Given the description of an element on the screen output the (x, y) to click on. 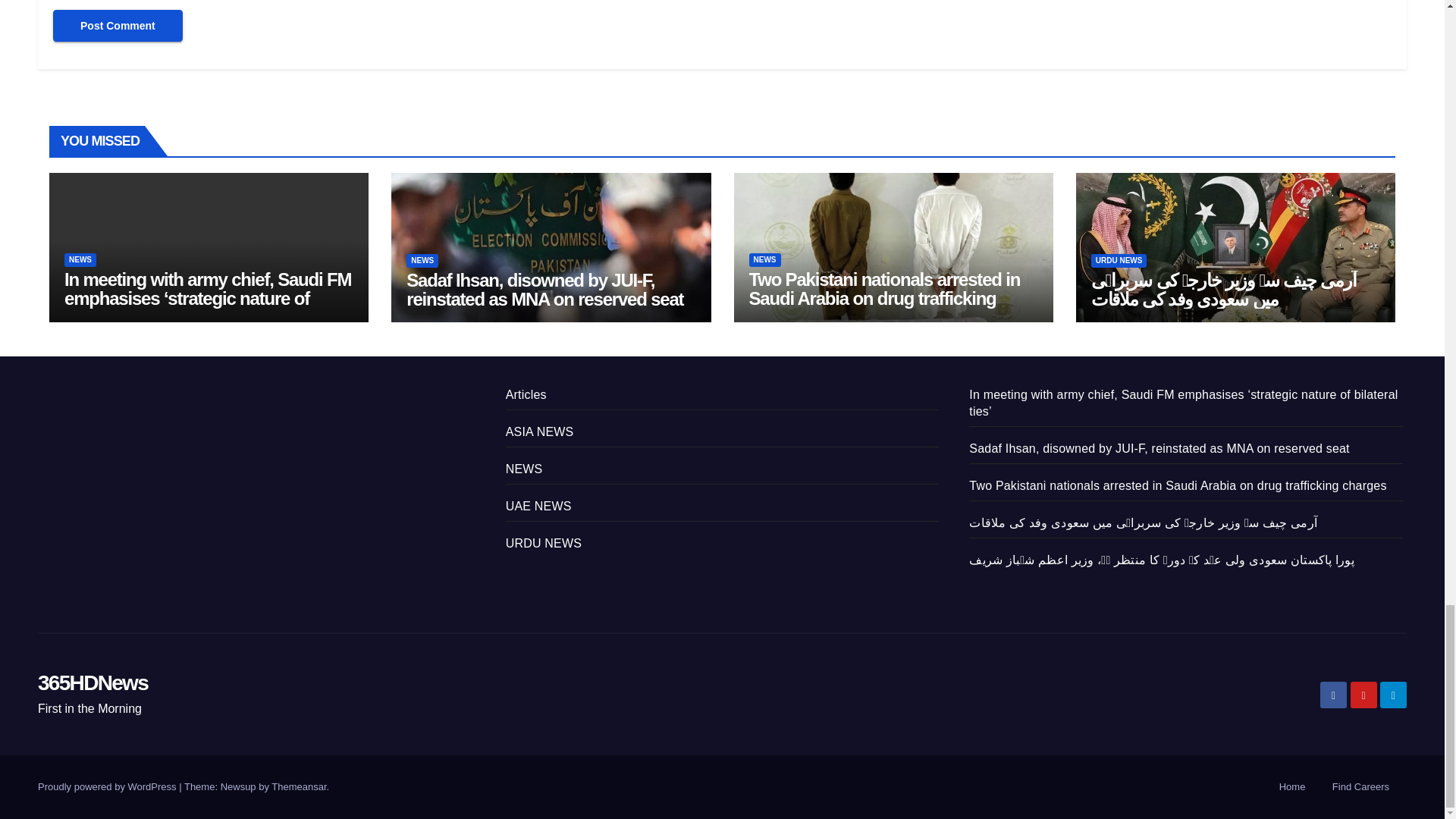
Find Careers (1360, 786)
Home (1291, 786)
Post Comment (117, 25)
Post Comment (117, 25)
NEWS (80, 259)
